Given the description of an element on the screen output the (x, y) to click on. 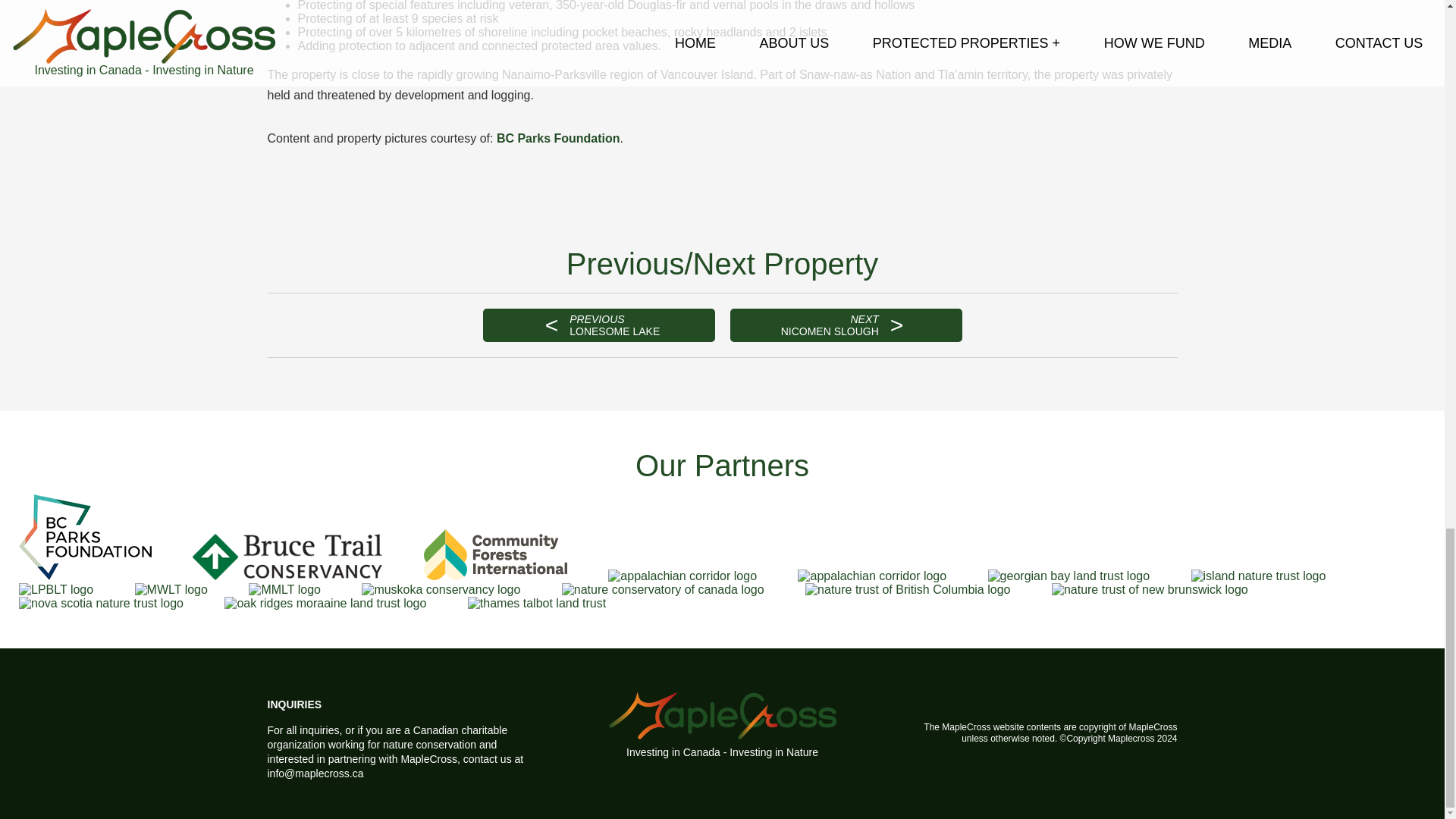
BC Parks Foundation (614, 324)
